Given the description of an element on the screen output the (x, y) to click on. 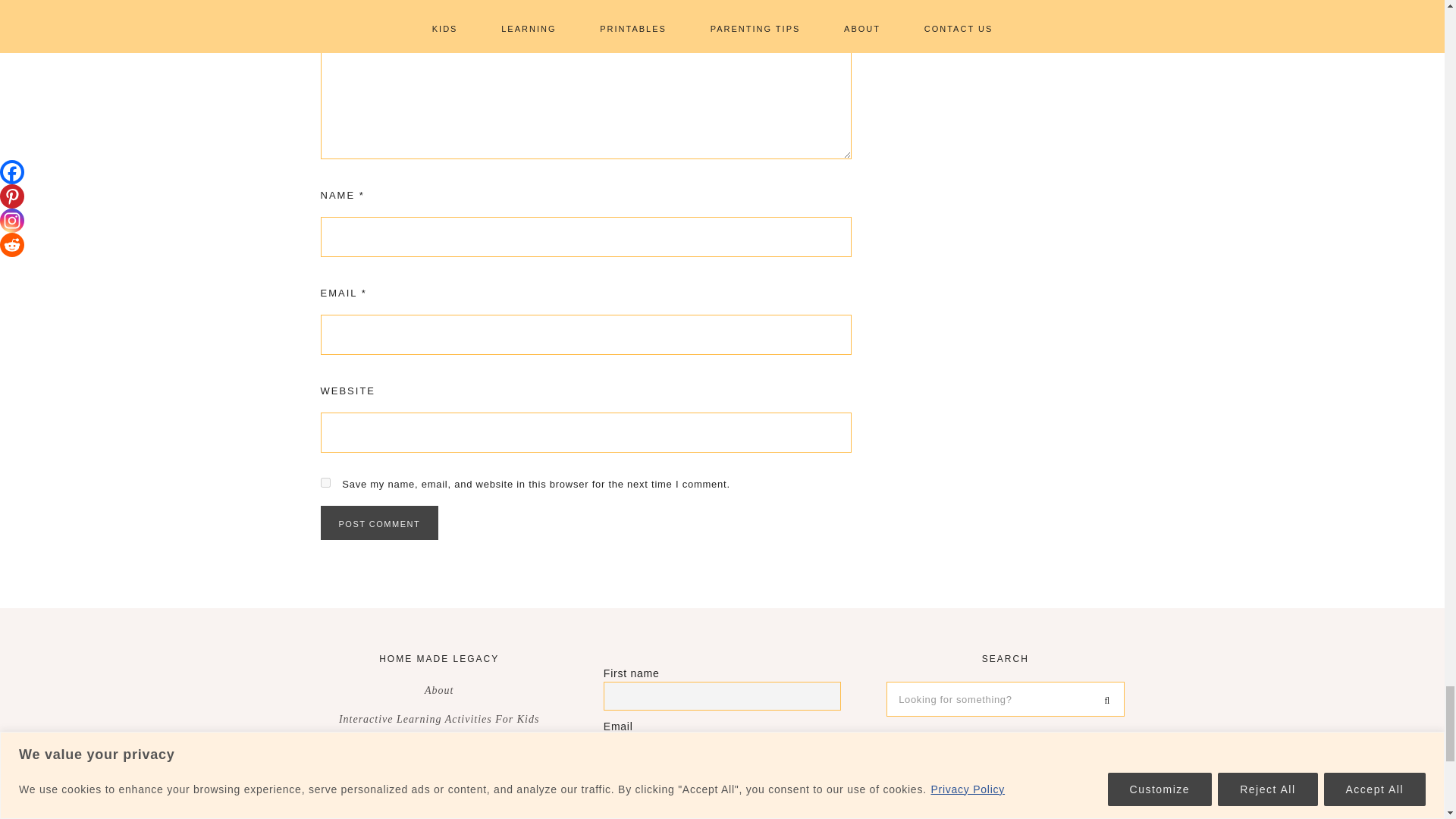
on (608, 777)
Post Comment (379, 522)
yes (325, 482)
Subscribe (722, 813)
